Given the description of an element on the screen output the (x, y) to click on. 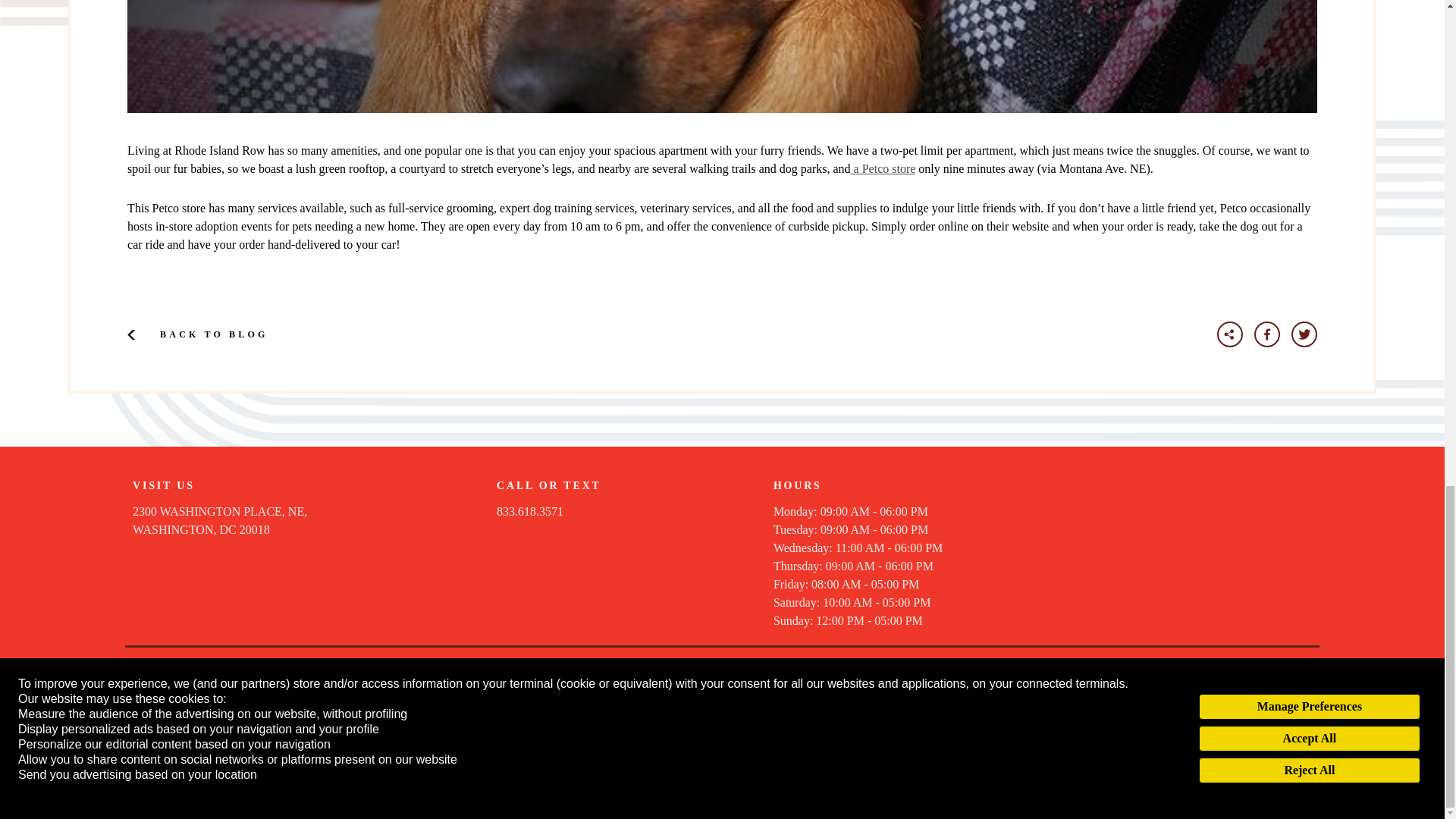
 a Petco store (219, 520)
BACK TO BLOG (882, 168)
